Given the description of an element on the screen output the (x, y) to click on. 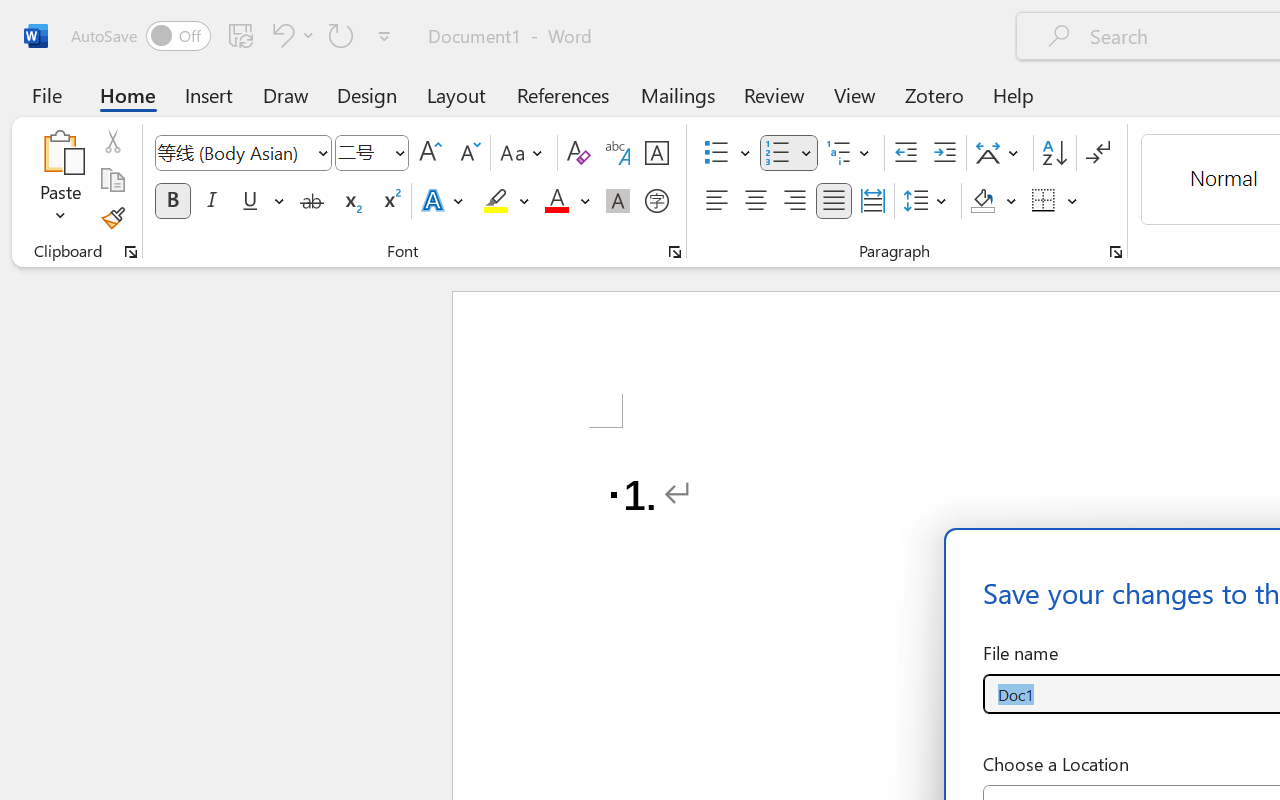
Undo Number Default (280, 35)
Undo Number Default (290, 35)
